Given the description of an element on the screen output the (x, y) to click on. 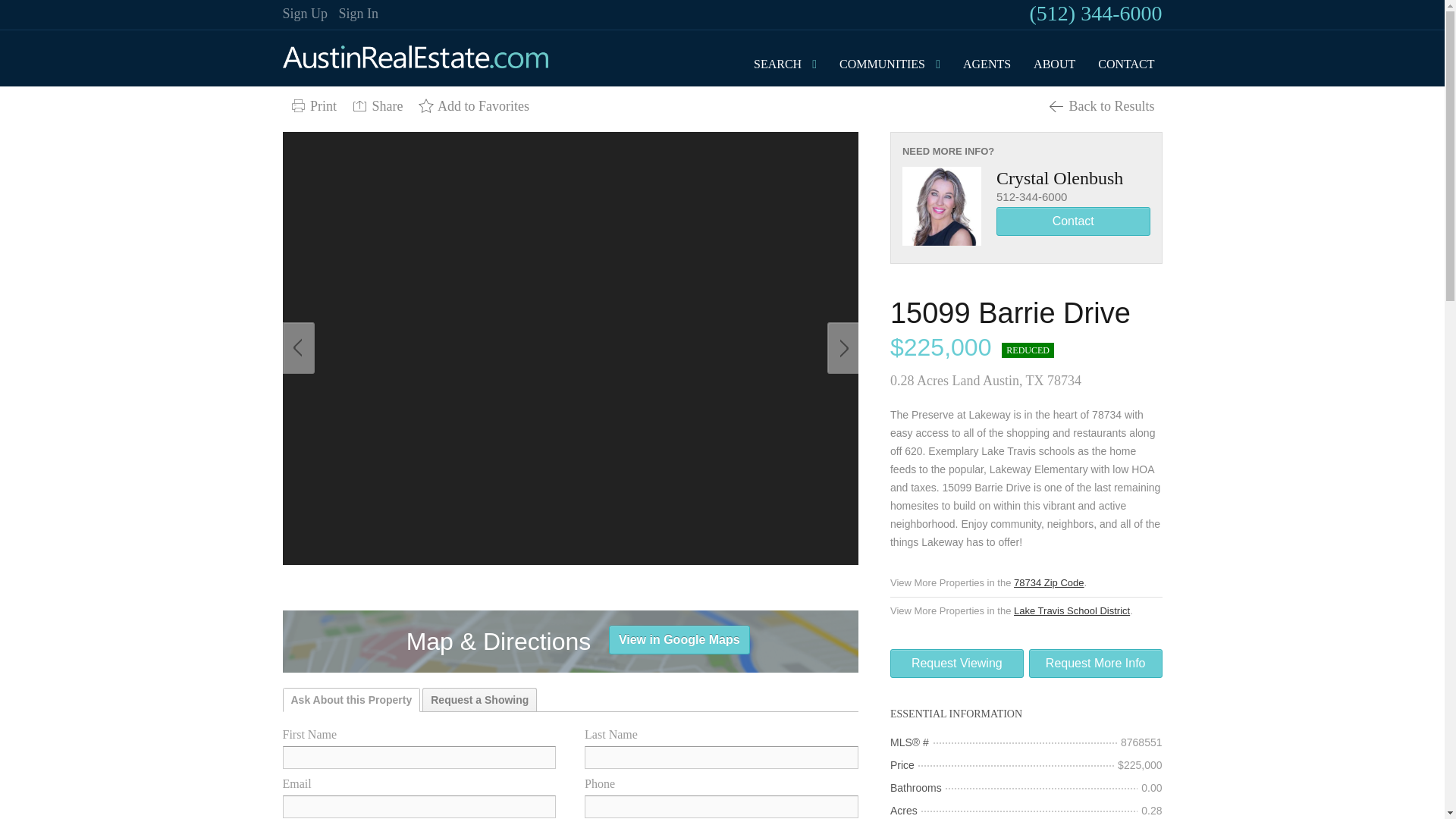
Print (312, 106)
ABOUT (1054, 64)
AGENTS (986, 64)
Sign In (358, 13)
Sign Up (304, 13)
Share (376, 106)
Add to Favorites (473, 106)
Add to Favorites (473, 106)
SEARCH (777, 64)
CONTACT (1125, 64)
